Given the description of an element on the screen output the (x, y) to click on. 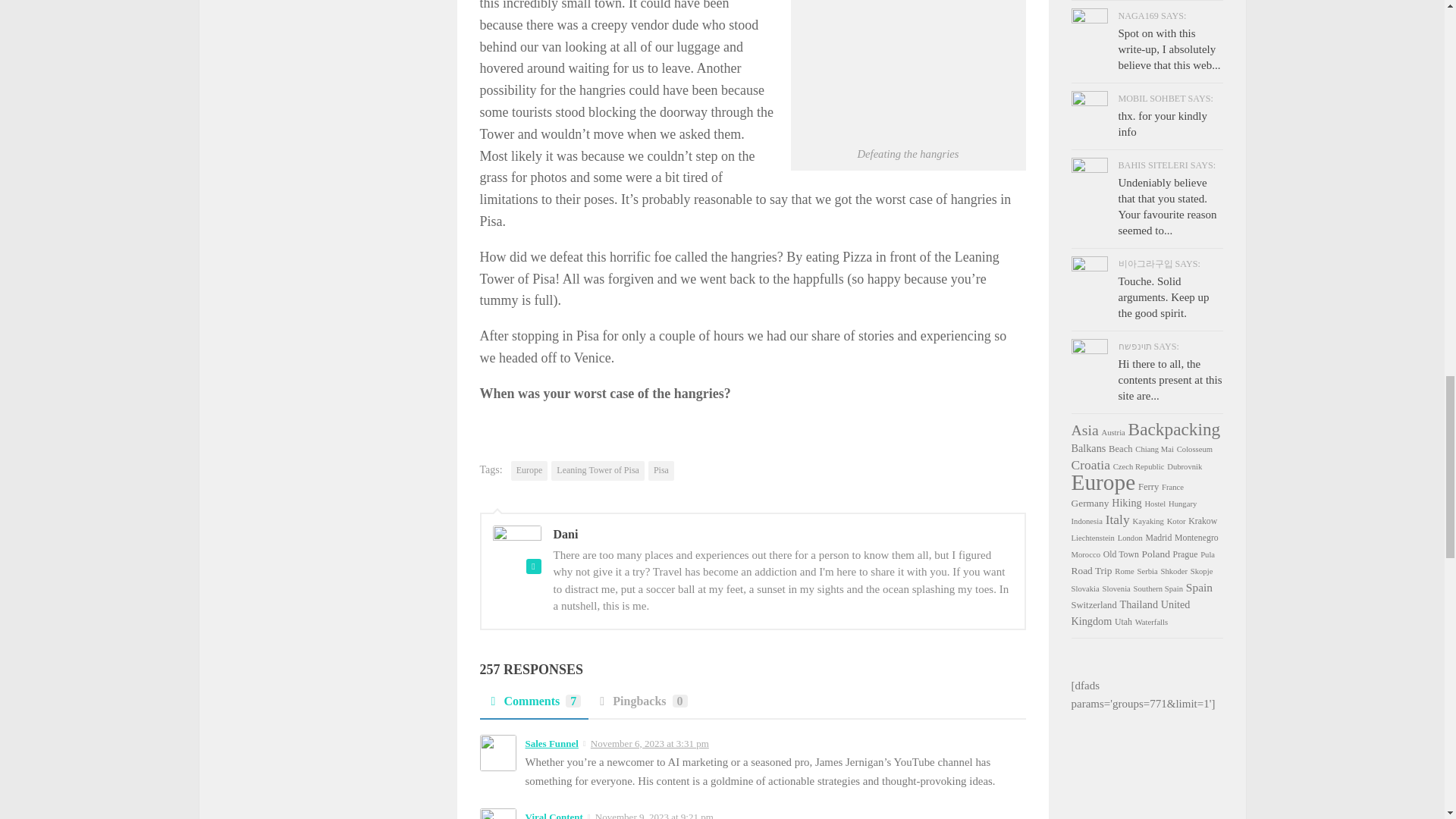
Sales Funnel (551, 743)
Europe (529, 470)
Comments7 (533, 705)
Leaning Tower of Pisa (598, 470)
Pisa (660, 470)
Pingbacks0 (641, 705)
November 6, 2023 at 3:31 pm (650, 743)
